Given the description of an element on the screen output the (x, y) to click on. 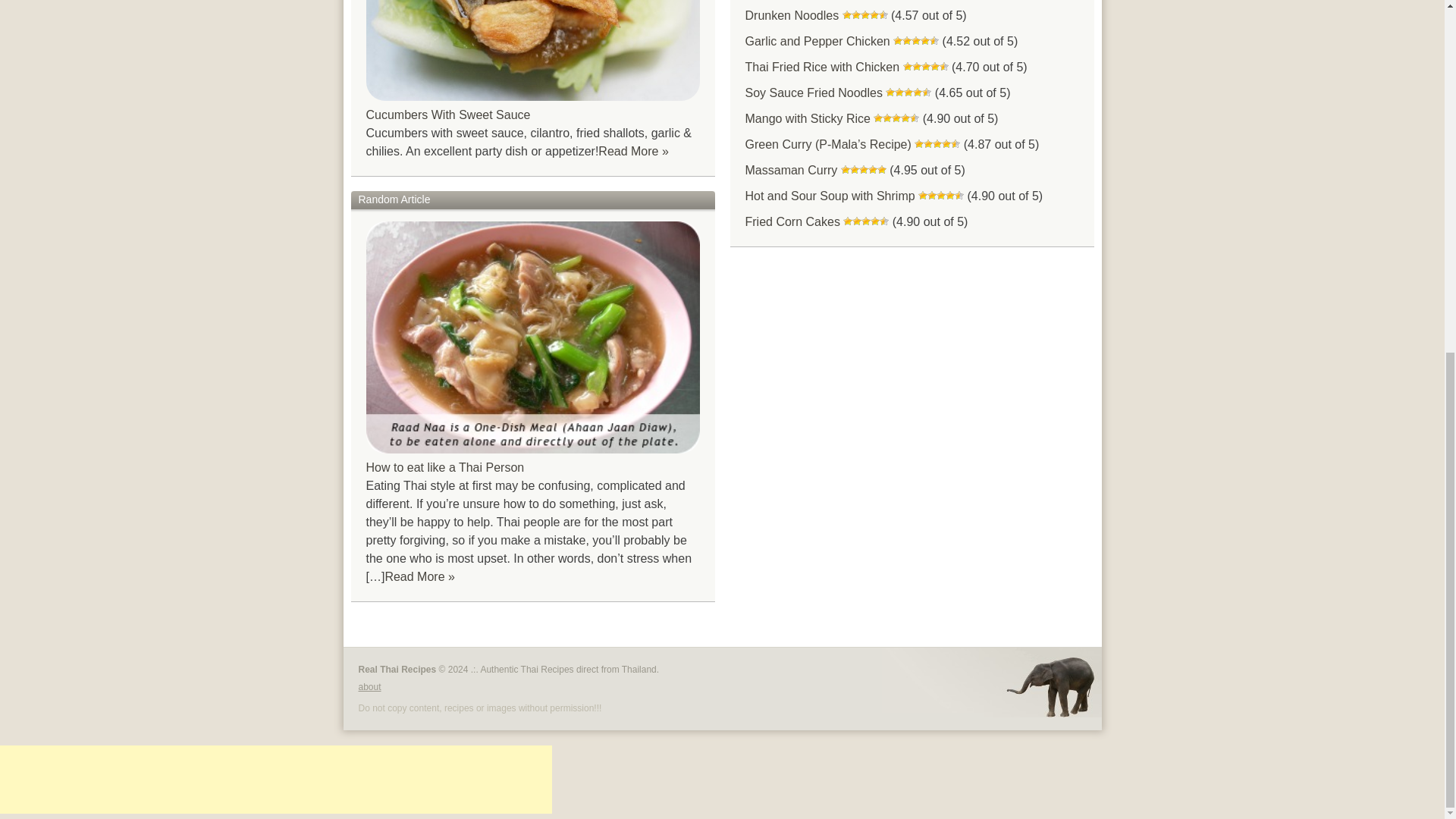
about (369, 686)
How to eat like a Thai Person (444, 467)
167 votes, average: 4.57 out of 5 (864, 14)
167 votes, average: 4.57 out of 5 (883, 14)
Cucumbers With Sweet Sauce (447, 114)
153 votes, average: 4.52 out of 5 (915, 40)
Garlic and Pepper Chicken (816, 41)
153 votes, average: 4.52 out of 5 (897, 40)
167 votes, average: 4.57 out of 5 (874, 14)
167 votes, average: 4.57 out of 5 (847, 14)
Fried Corn Cakes (792, 221)
Hot and Sour Soup with Shrimp (829, 195)
Mango with Sticky Rice (806, 118)
Thai Fried Rice with Chicken (821, 66)
Drunken Noodles (791, 15)
